Given the description of an element on the screen output the (x, y) to click on. 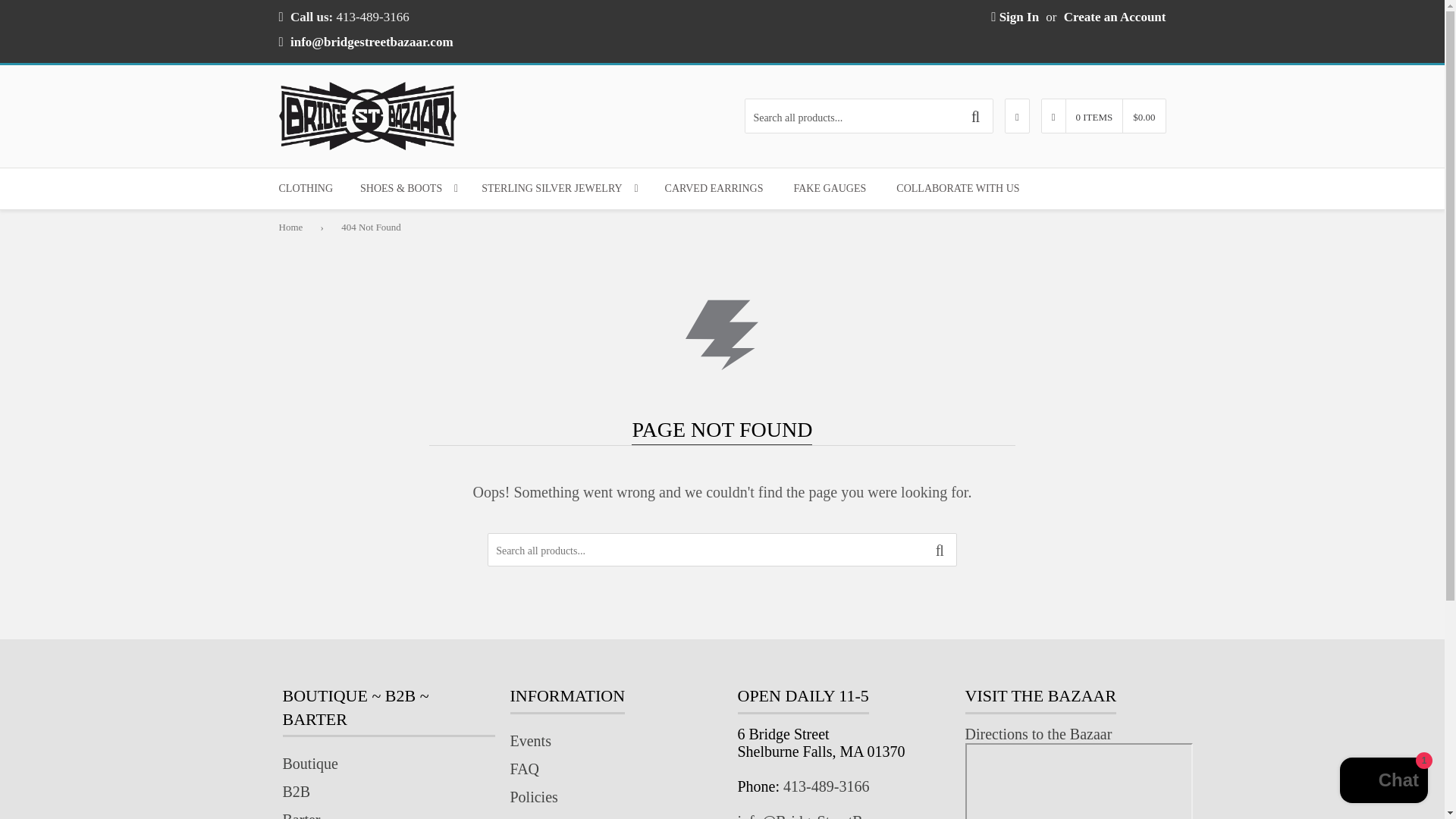
STERLING SILVER JEWELRY (558, 188)
Create an Account (1115, 16)
Barter (301, 815)
CLOTHING (306, 188)
Boutique (309, 763)
Back to the frontpage (295, 227)
Policies (533, 796)
FAQ (523, 768)
Search (975, 116)
Events (529, 740)
B2B (296, 791)
Shopify online store chat (1383, 781)
413-489-3166 (826, 786)
Sign In (1015, 16)
Search (939, 550)
